Given the description of an element on the screen output the (x, y) to click on. 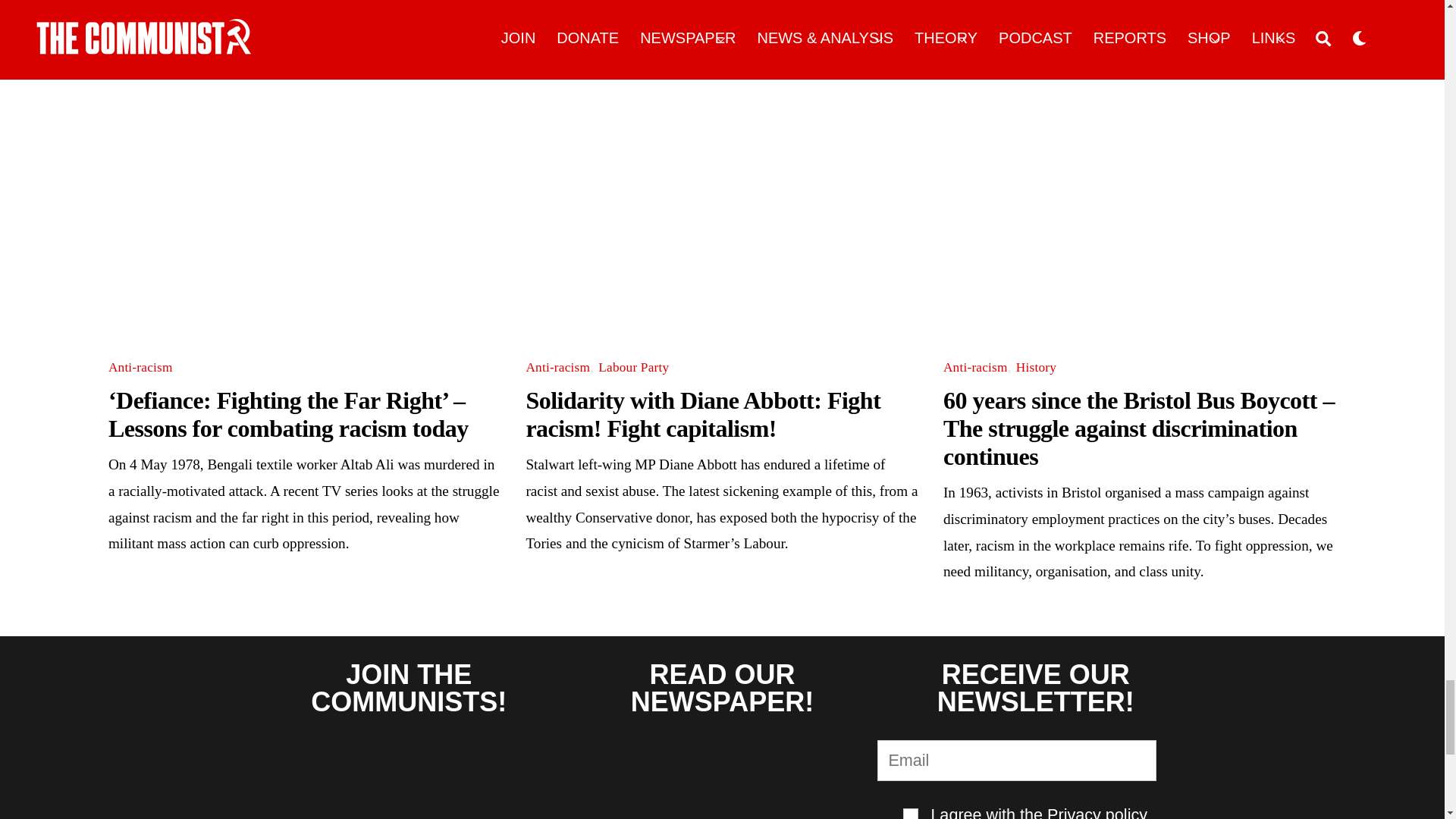
Terms and conditions (910, 813)
on (910, 813)
Privacy policy (1096, 812)
